Given the description of an element on the screen output the (x, y) to click on. 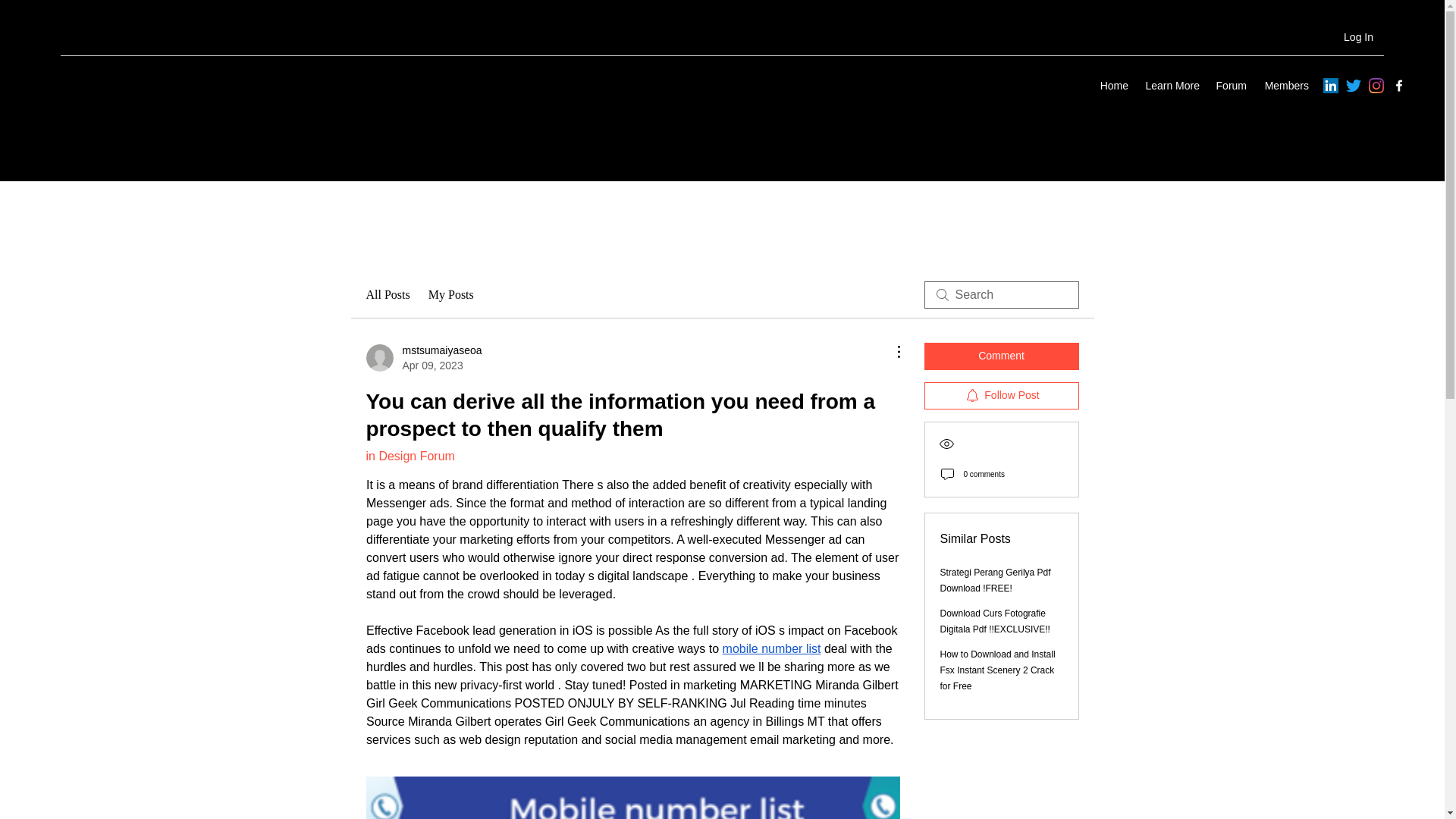
Download Curs Fotografie Digitala Pdf !!EXCLUSIVE!! (994, 621)
Follow Post (1000, 395)
mobile number list (771, 648)
Log In (1358, 37)
All Posts (387, 294)
Members (1284, 85)
in Design Forum (409, 455)
Strategi Perang Gerilya Pdf Download !FREE! (995, 580)
Forum (1230, 85)
